Given the description of an element on the screen output the (x, y) to click on. 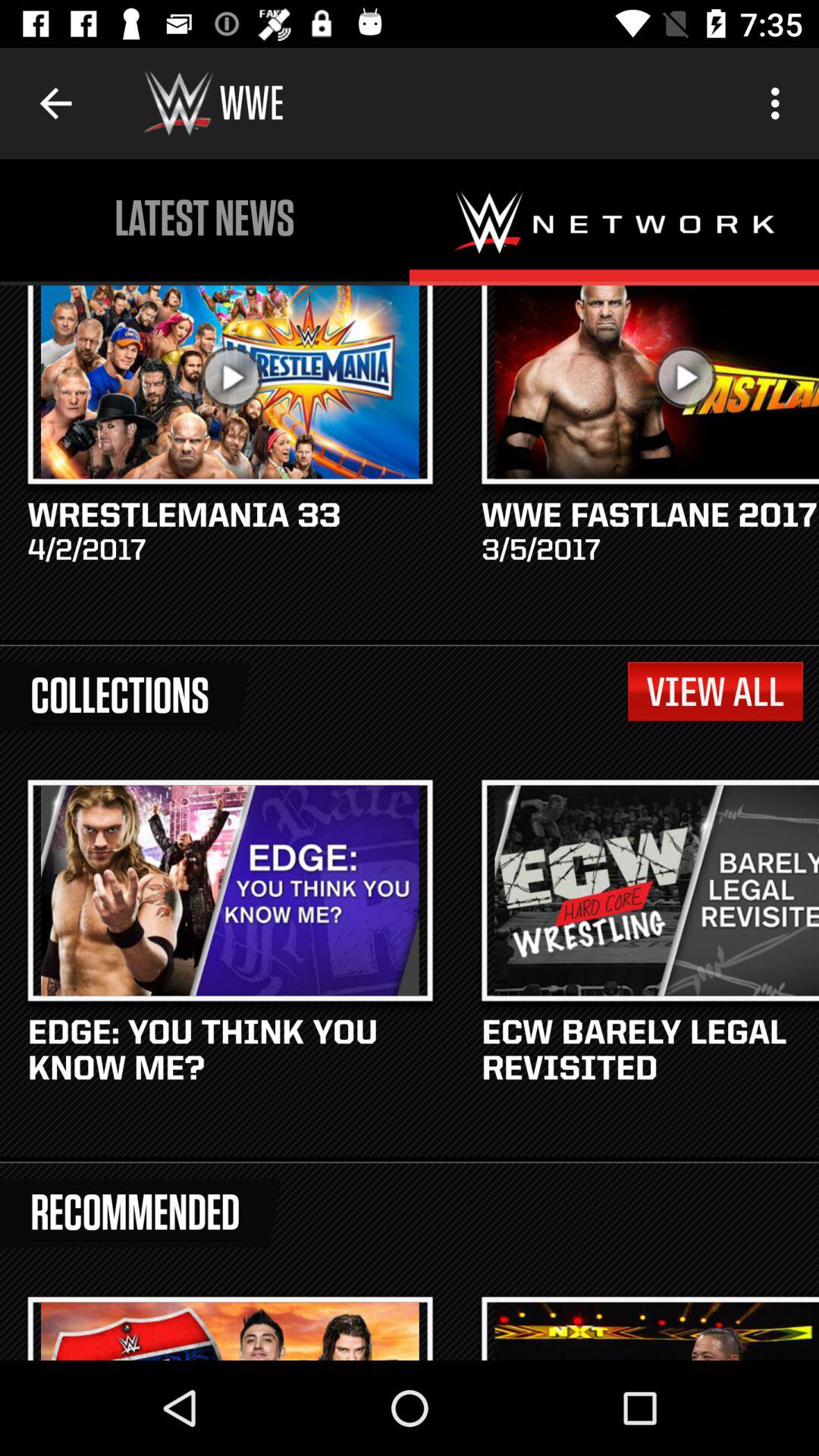
jump to view all item (715, 691)
